Given the description of an element on the screen output the (x, y) to click on. 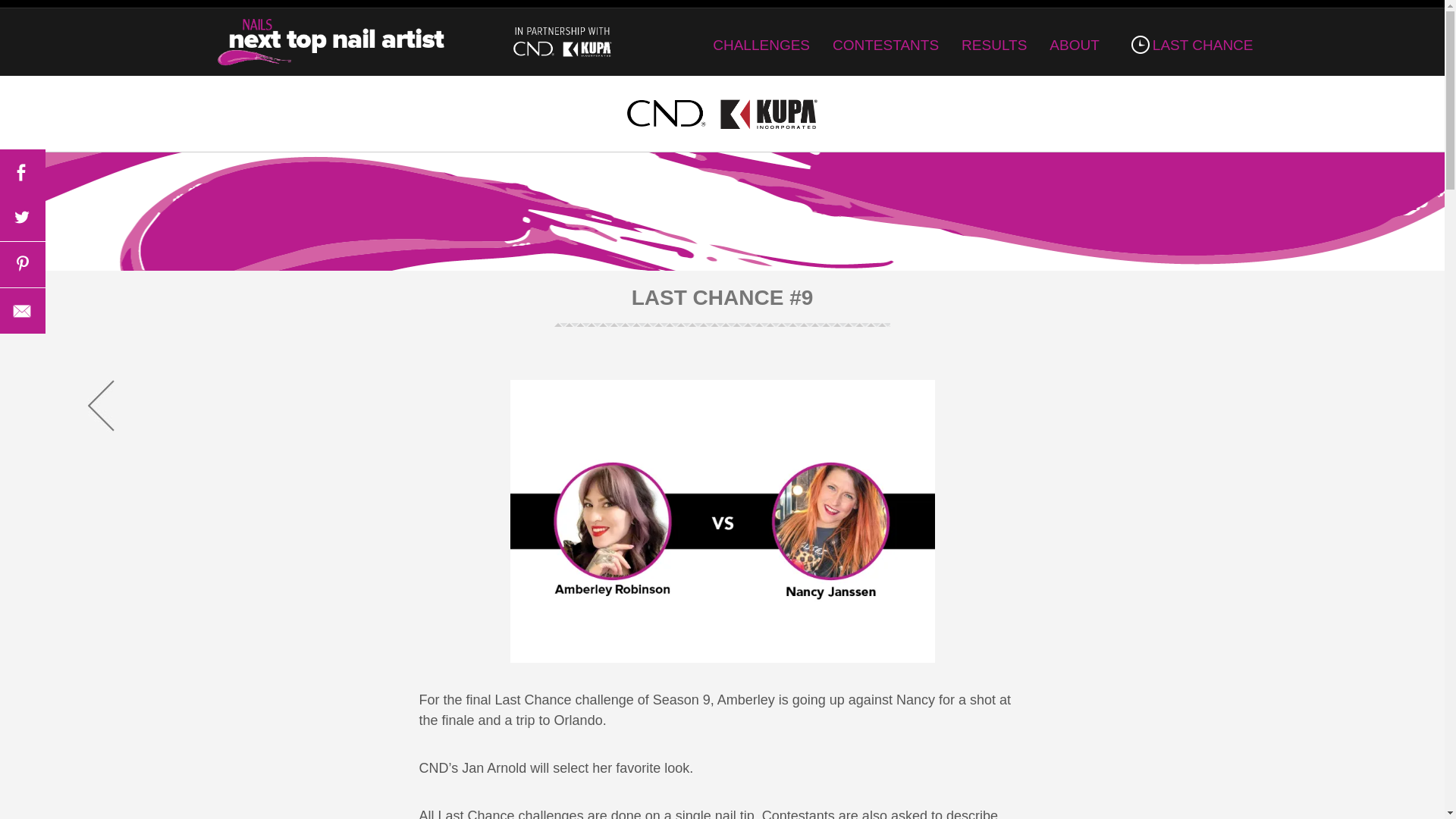
CHALLENGES (761, 44)
RESULTS (993, 44)
LAST CHANCE (1187, 44)
CONTESTANTS (885, 44)
ABOUT (1074, 44)
